Given the description of an element on the screen output the (x, y) to click on. 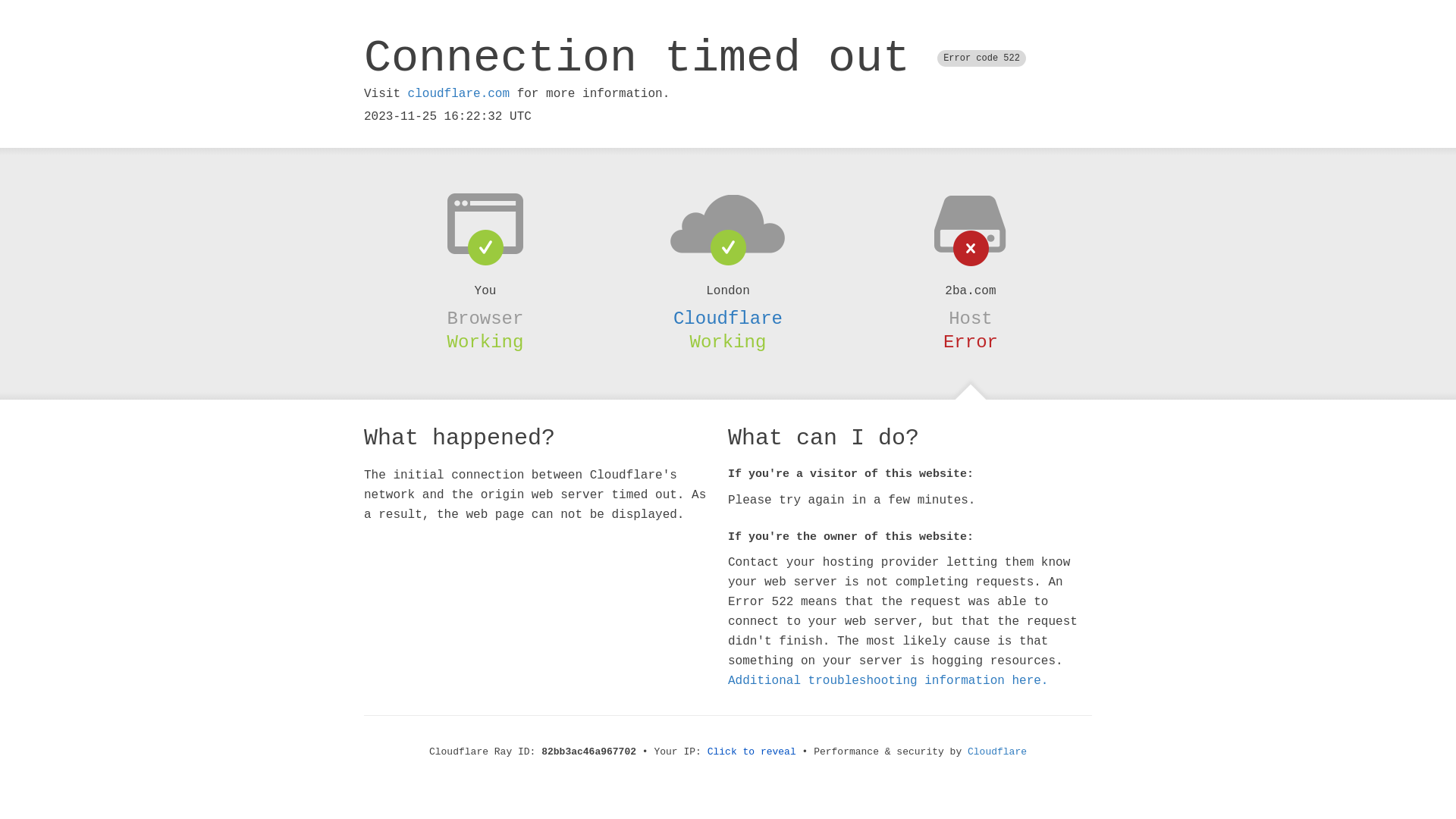
Cloudflare Element type: text (996, 751)
Additional troubleshooting information here. Element type: text (888, 680)
Click to reveal Element type: text (751, 751)
cloudflare.com Element type: text (458, 93)
Cloudflare Element type: text (727, 318)
